Given the description of an element on the screen output the (x, y) to click on. 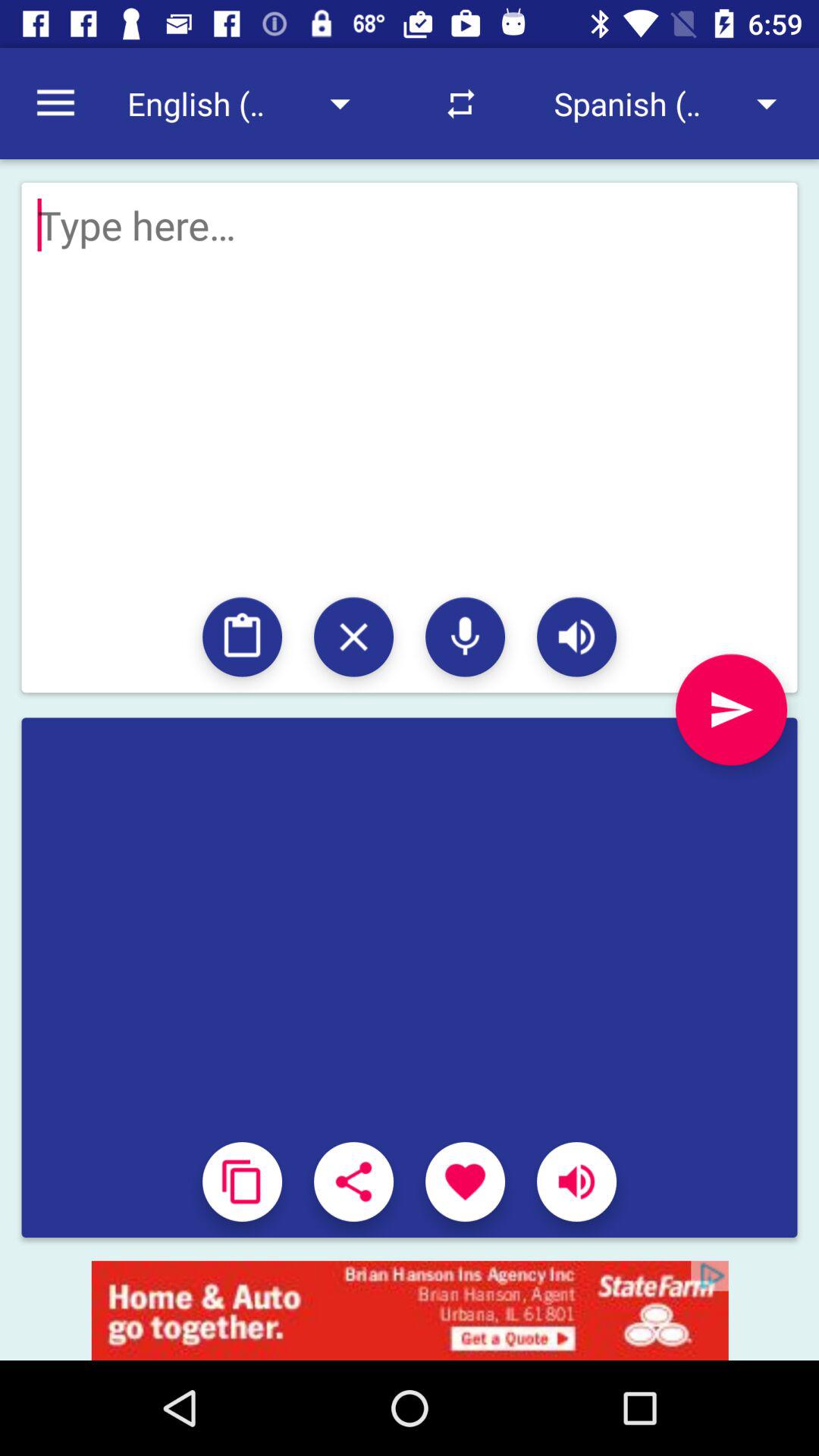
opens a advertisement (409, 1310)
